Given the description of an element on the screen output the (x, y) to click on. 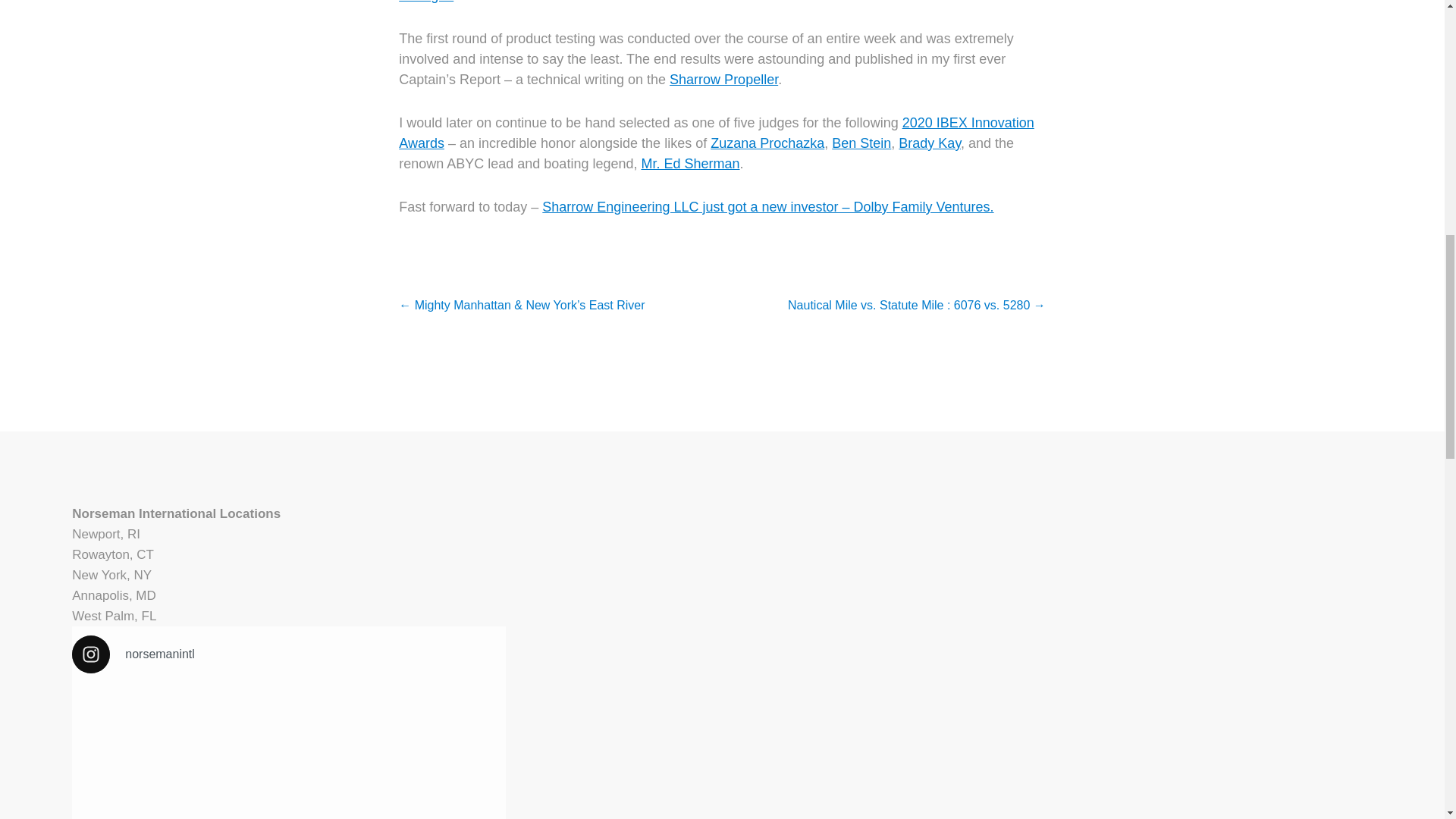
Sharrow Propeller (723, 79)
